Given the description of an element on the screen output the (x, y) to click on. 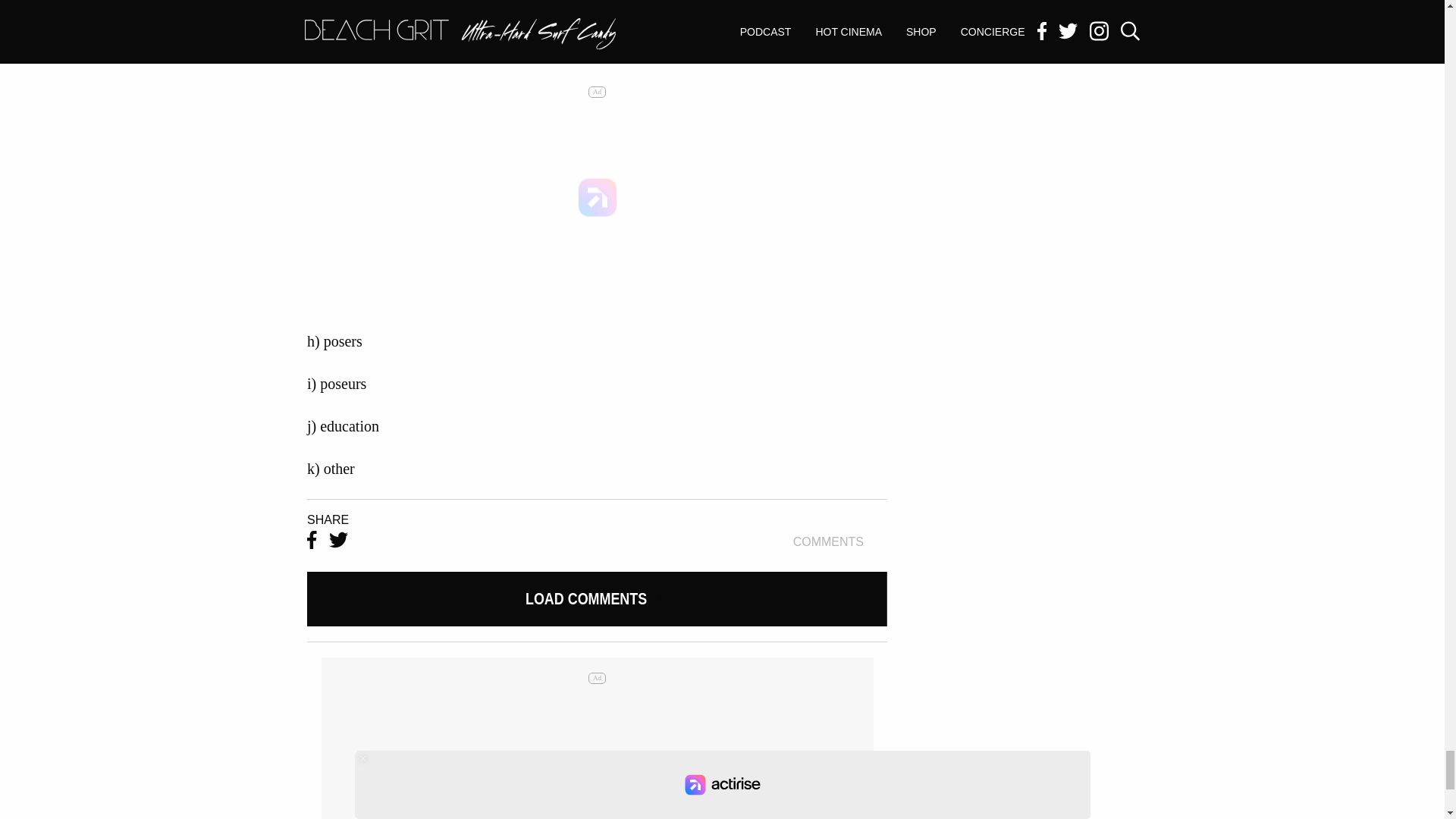
Share on Twitter (338, 540)
